Given the description of an element on the screen output the (x, y) to click on. 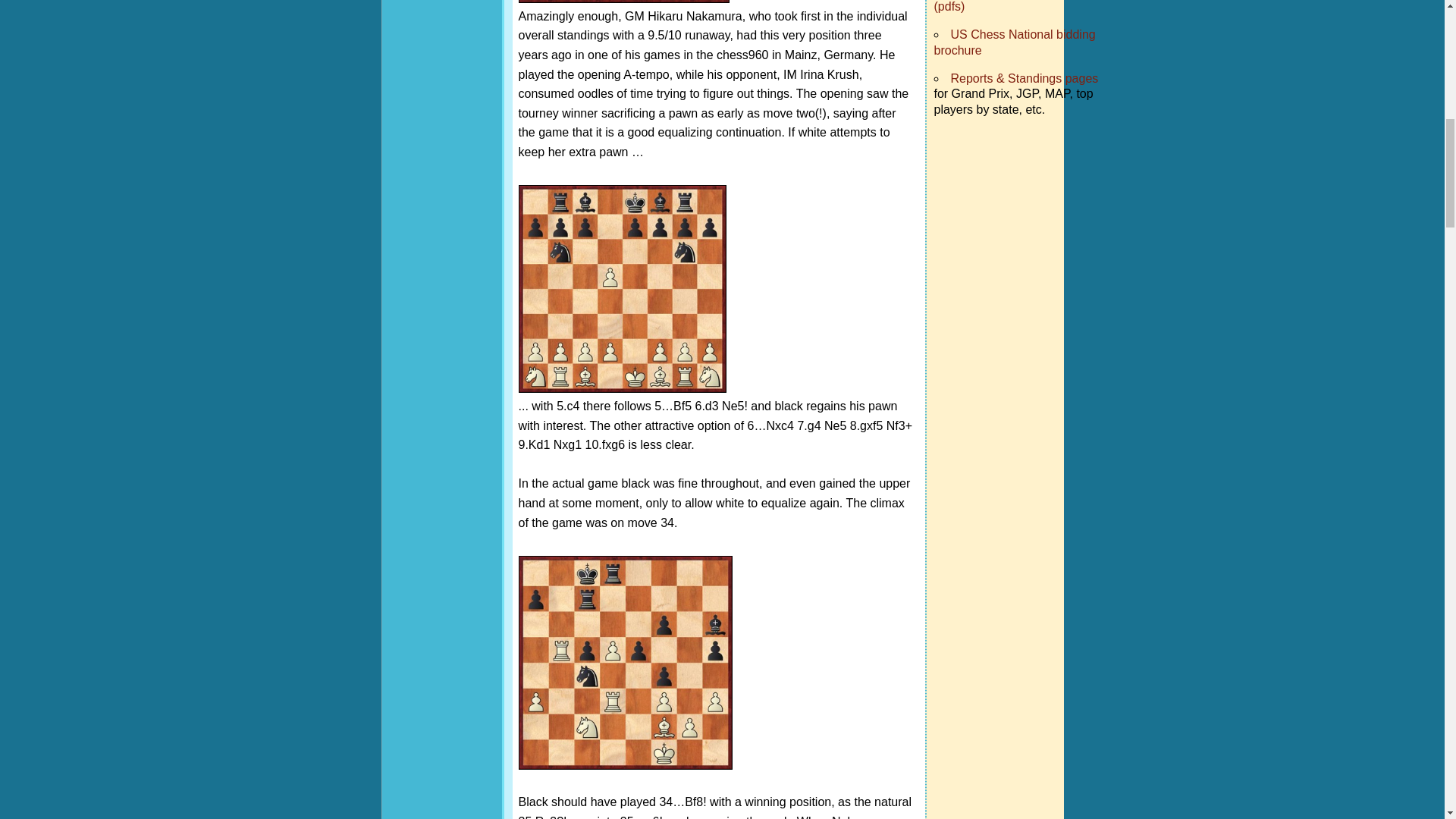
KrushNakamura1.jpg (622, 289)
KrushNakamura2.jpg (625, 662)
US Chess National bidding brochure (1015, 41)
960position5.jpg (623, 1)
